Given the description of an element on the screen output the (x, y) to click on. 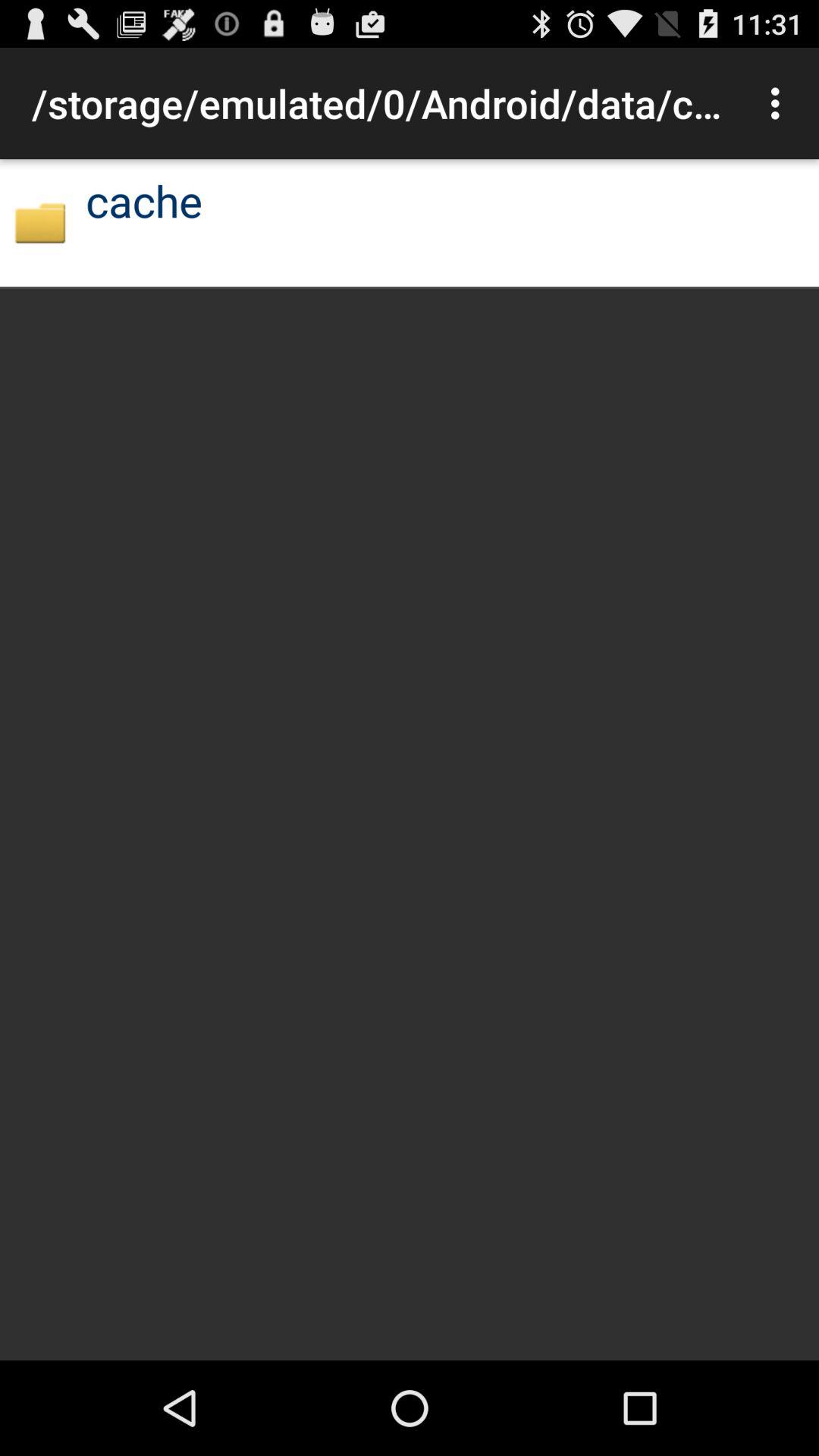
press the app below storage emulated 0 item (39, 222)
